Given the description of an element on the screen output the (x, y) to click on. 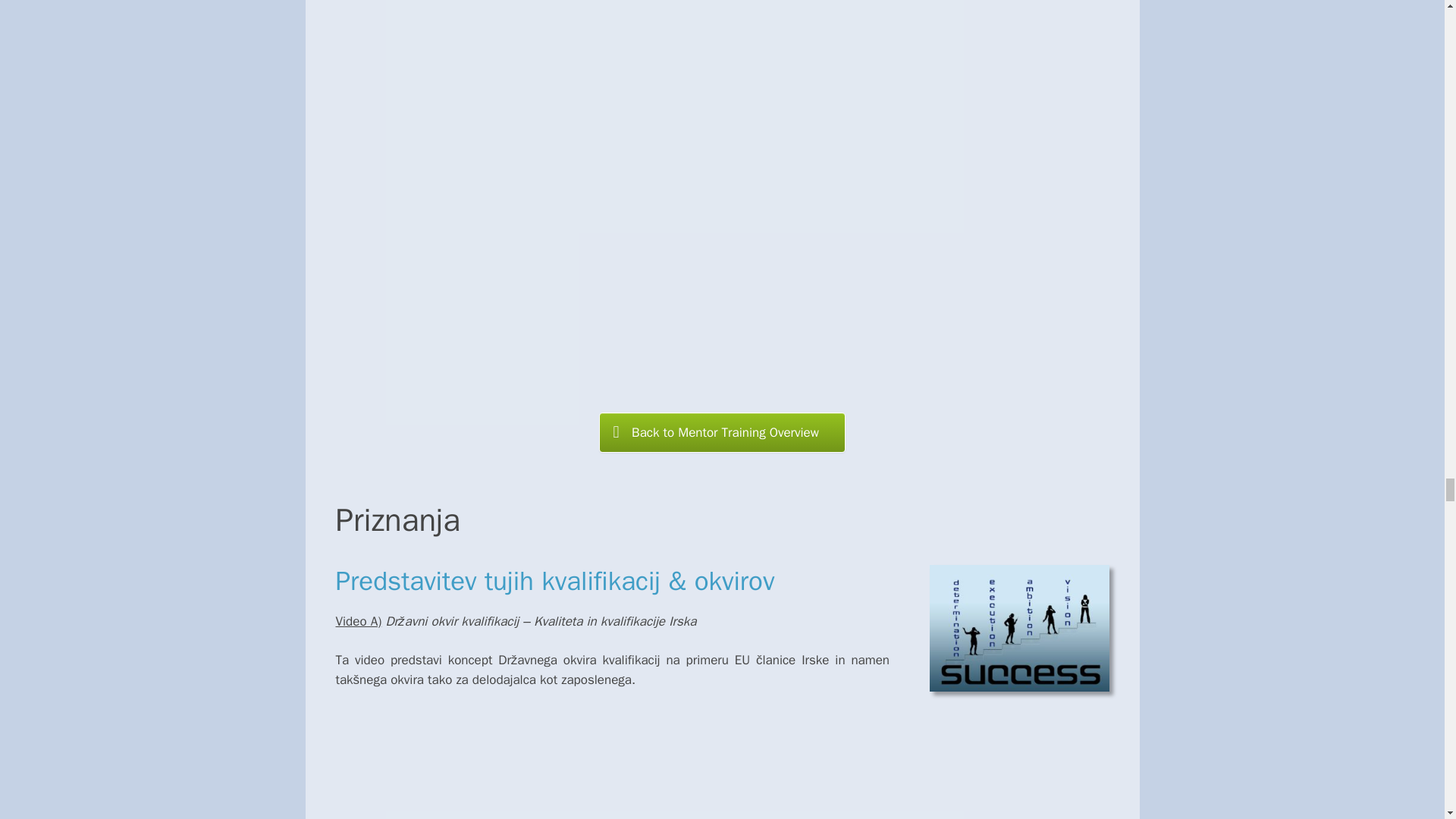
Back to Mentor Training Overview (721, 432)
